Given the description of an element on the screen output the (x, y) to click on. 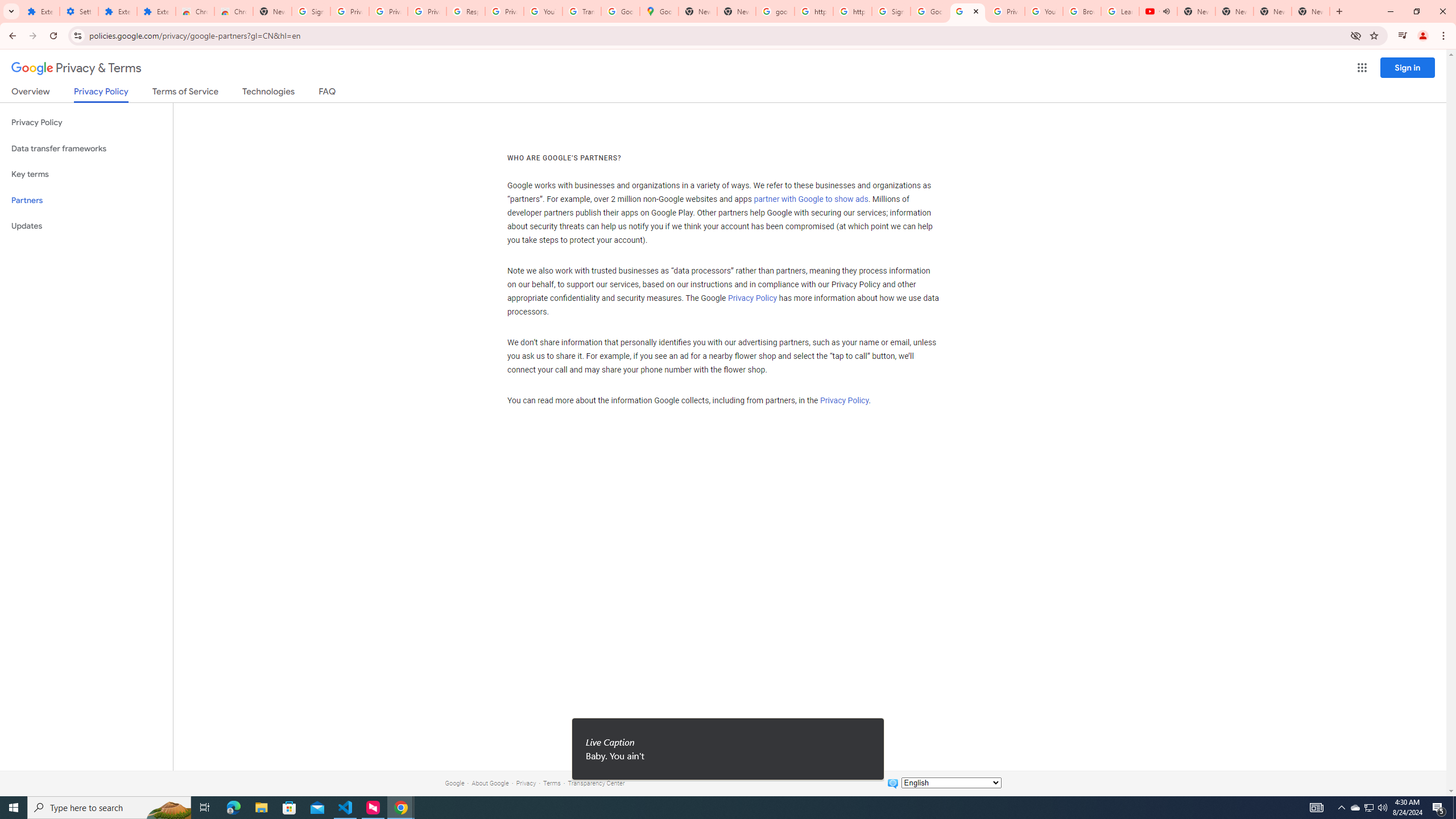
https://scholar.google.com/ (852, 11)
Change language: (951, 782)
Extensions (40, 11)
